Given the description of an element on the screen output the (x, y) to click on. 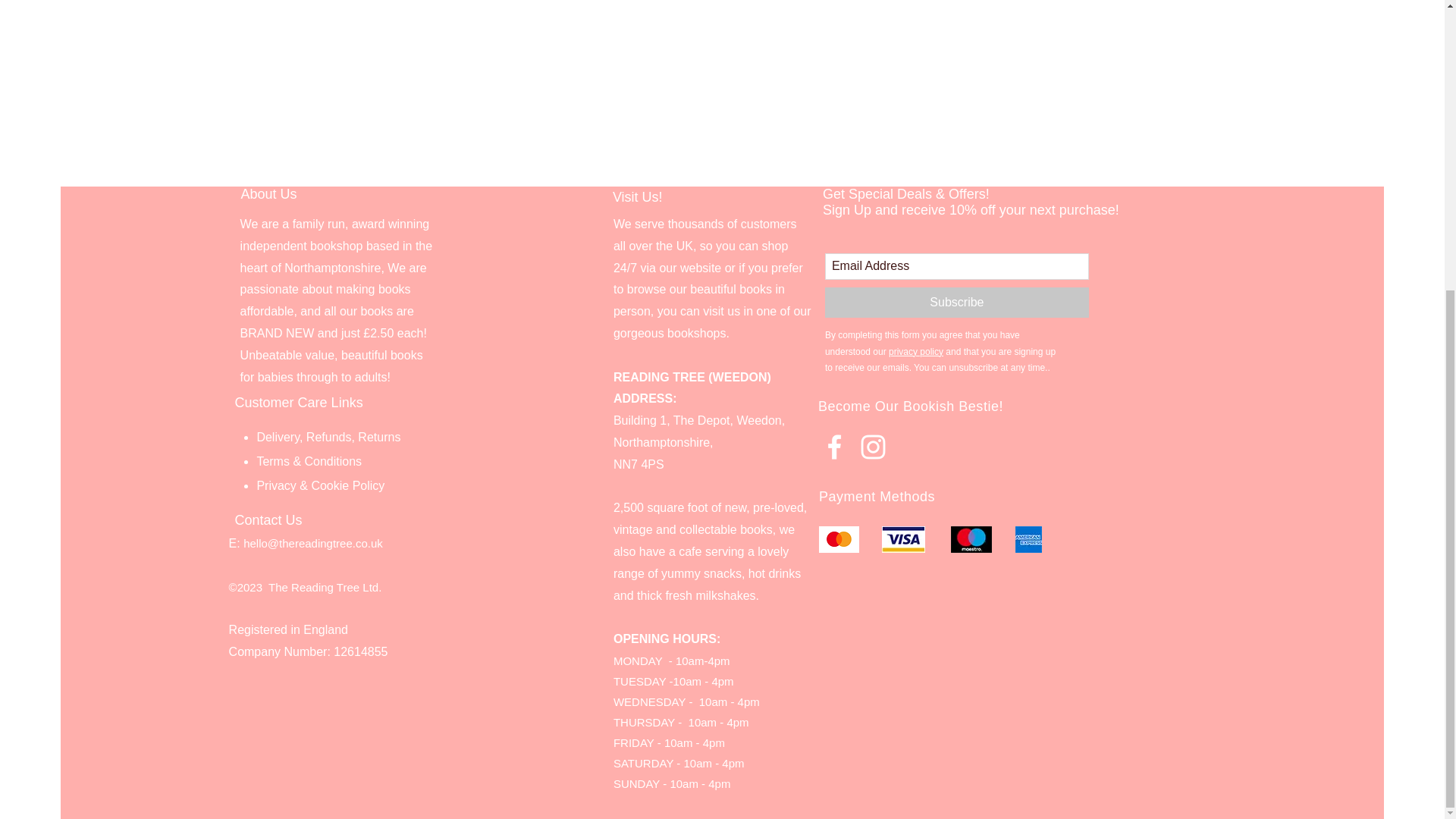
Subscribe (957, 302)
Delivery, Refunds, Returns (328, 436)
privacy policy (915, 351)
unsubscribe (973, 367)
About Us (269, 193)
